Given the description of an element on the screen output the (x, y) to click on. 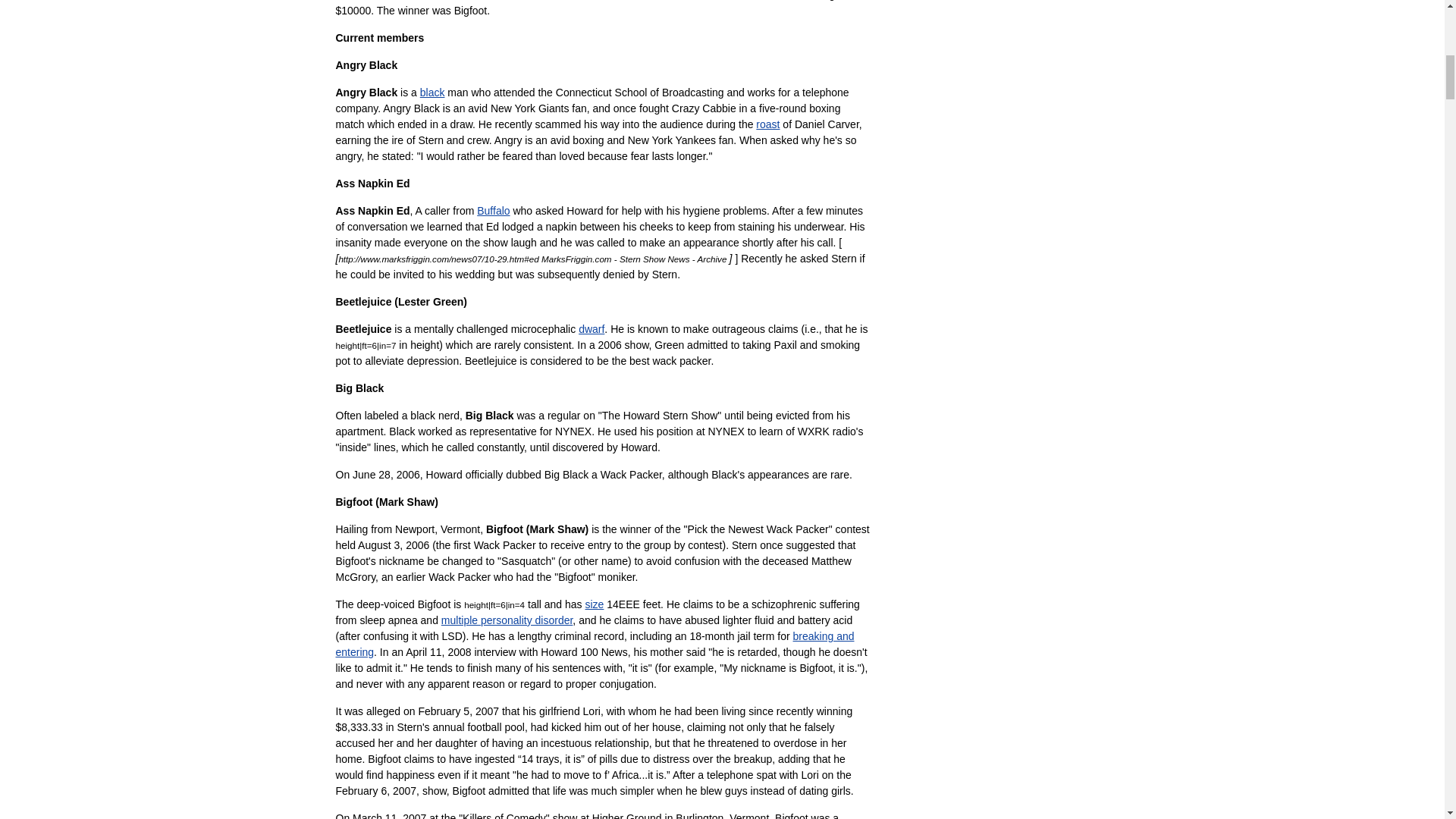
Buffalo (493, 210)
roast (766, 123)
multiple personality disorder (507, 620)
black (432, 92)
size (594, 604)
breaking and entering (593, 643)
dwarf (591, 328)
